Given the description of an element on the screen output the (x, y) to click on. 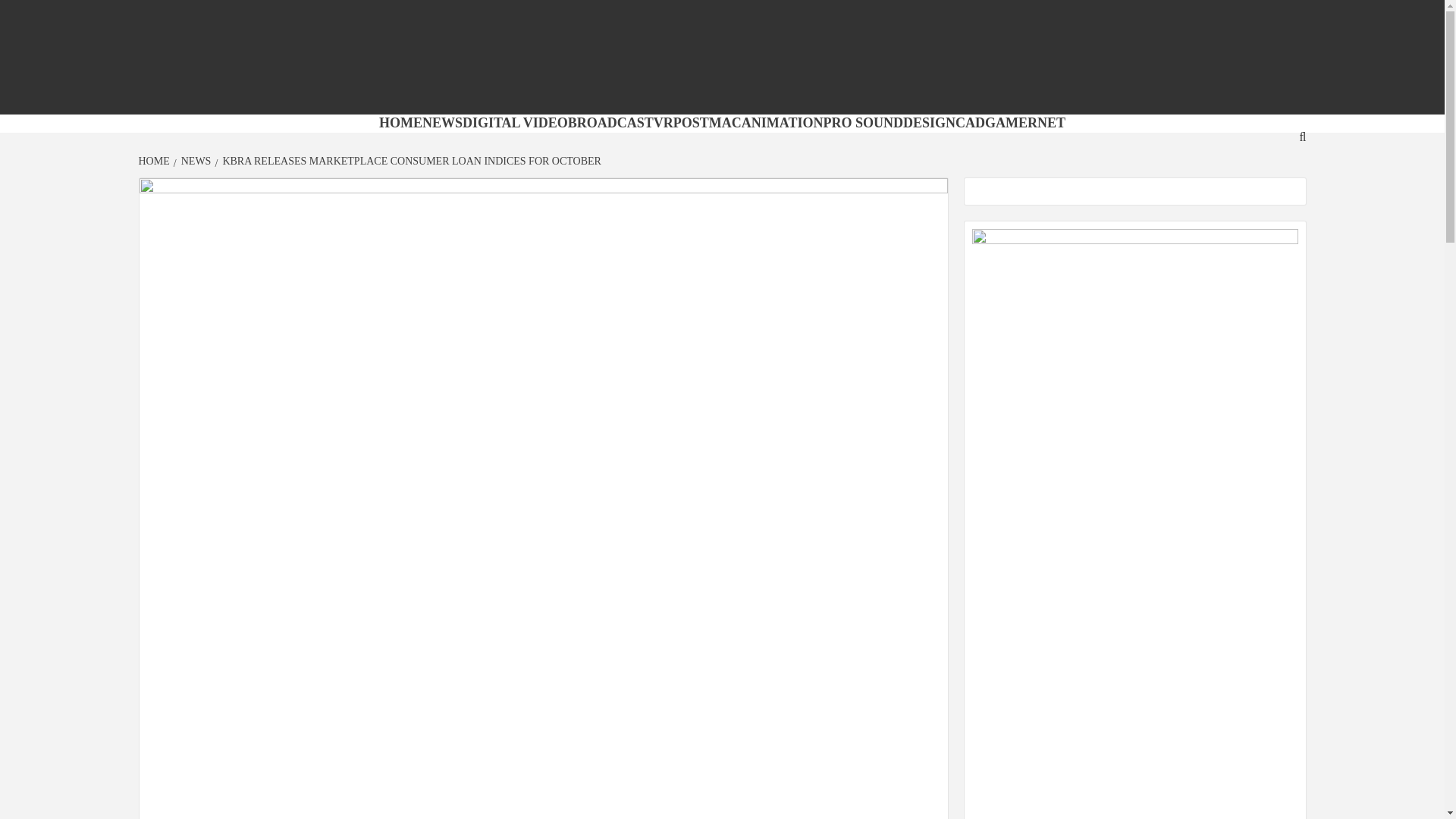
DESIGN (928, 122)
ANIMATION (782, 122)
HOME (400, 122)
HOME (155, 161)
PRO SOUND (864, 122)
BROADCAST (610, 122)
DIGITAL VIDEO (515, 122)
GAMERNET (1025, 122)
MAC (725, 122)
CAD (970, 122)
